Given the description of an element on the screen output the (x, y) to click on. 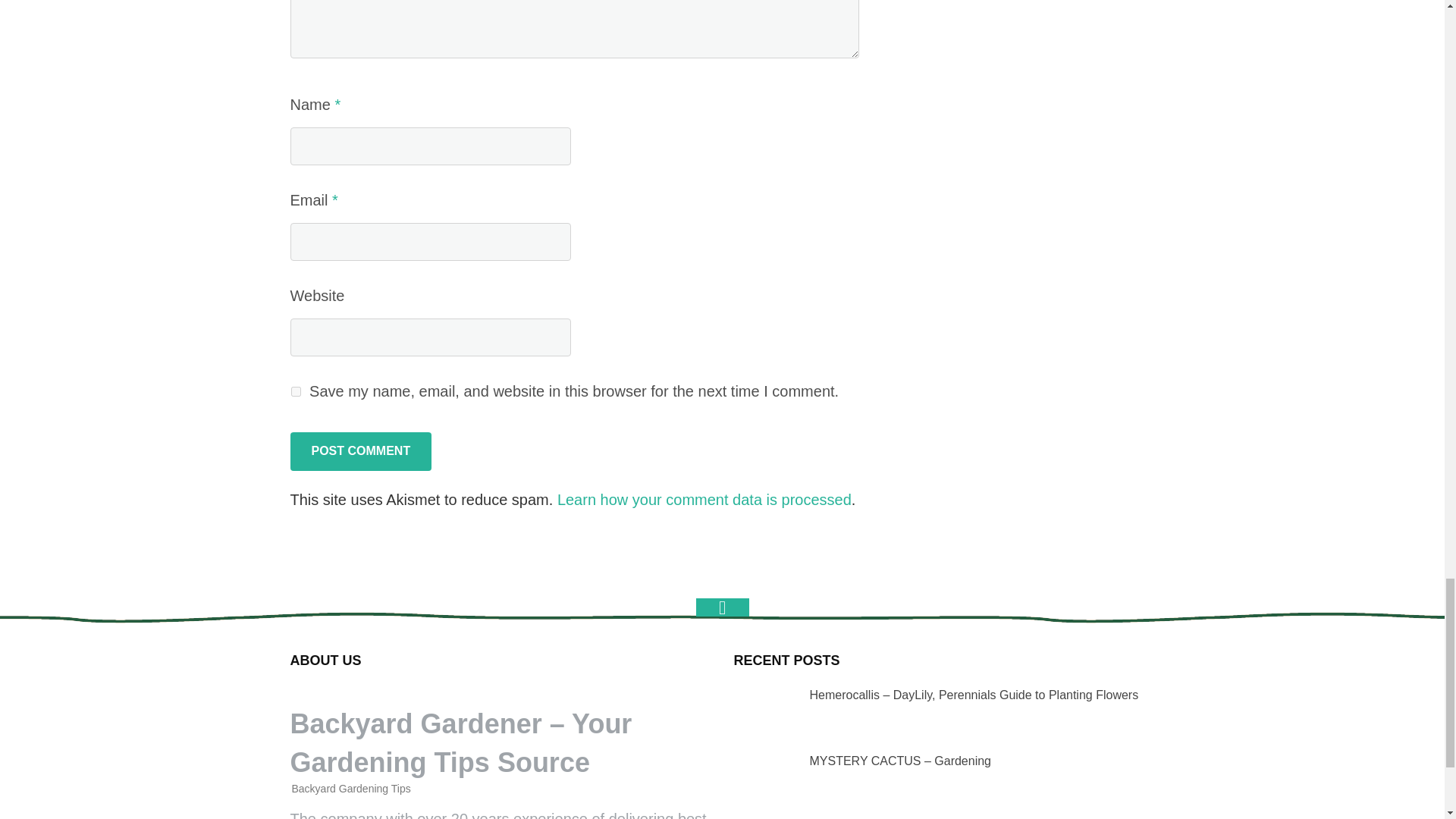
yes (296, 391)
Post Comment (359, 451)
